Given the description of an element on the screen output the (x, y) to click on. 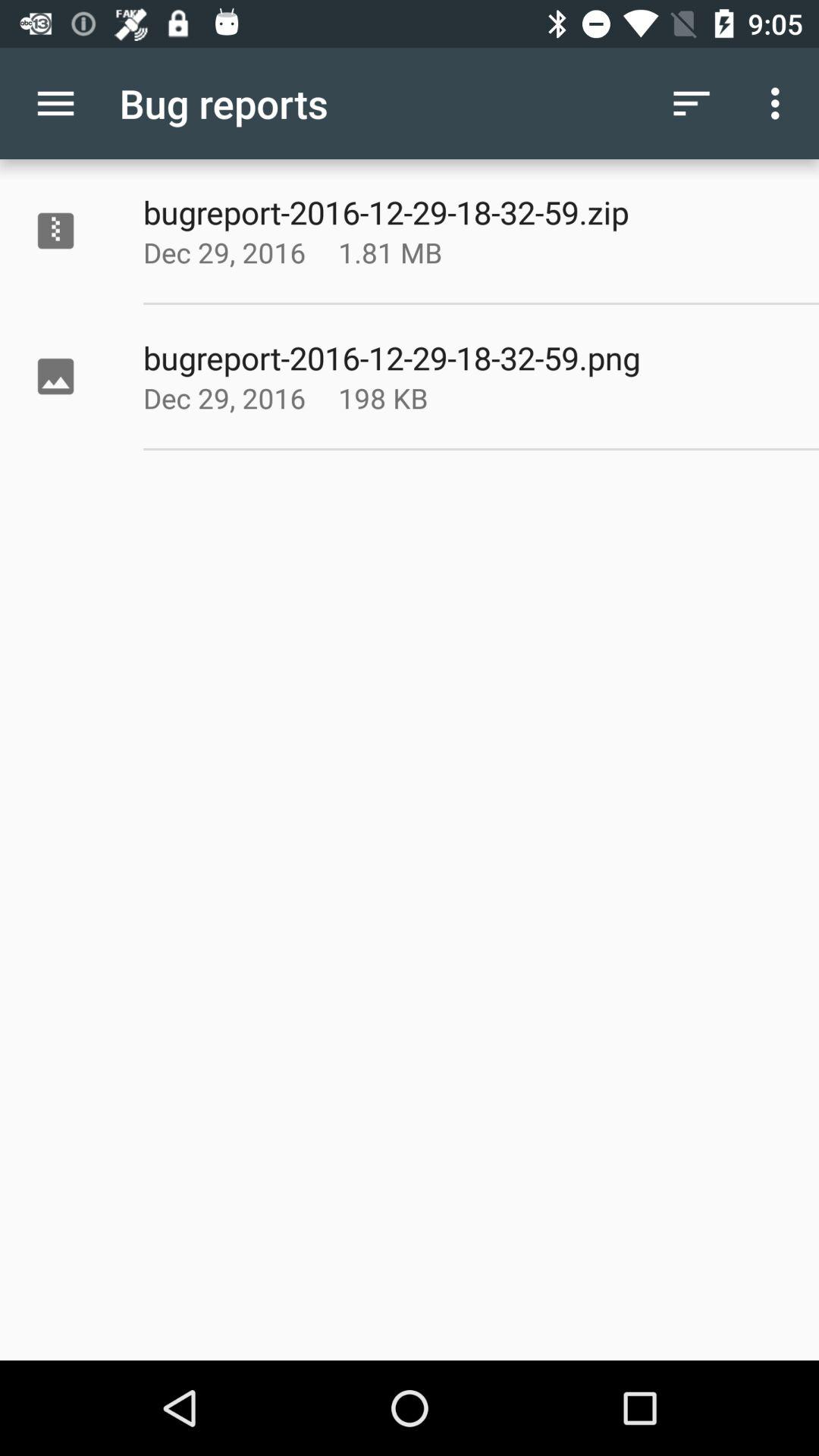
select 1.81 mb app (427, 252)
